Given the description of an element on the screen output the (x, y) to click on. 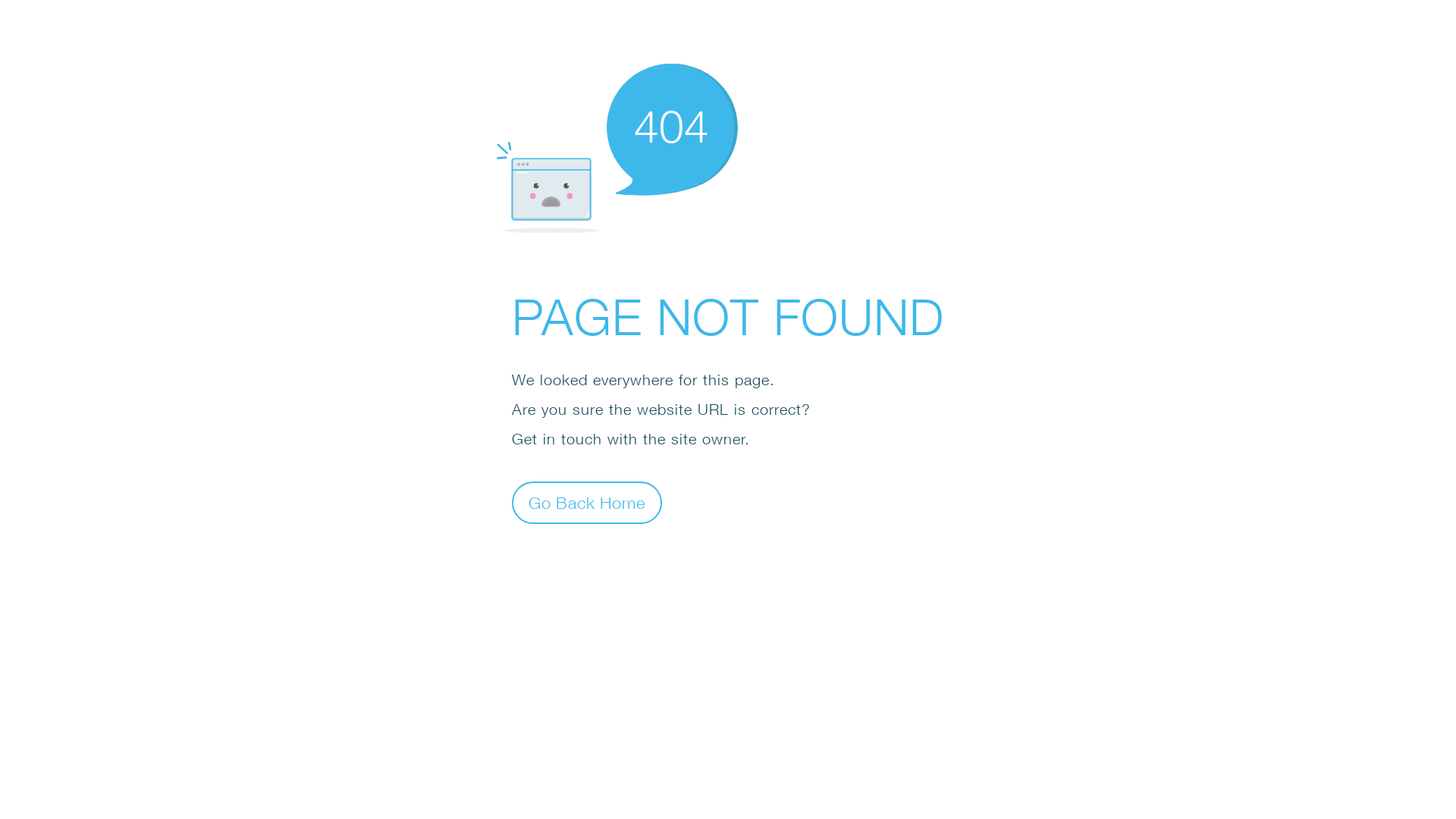
Go Back Home Element type: text (586, 502)
